Given the description of an element on the screen output the (x, y) to click on. 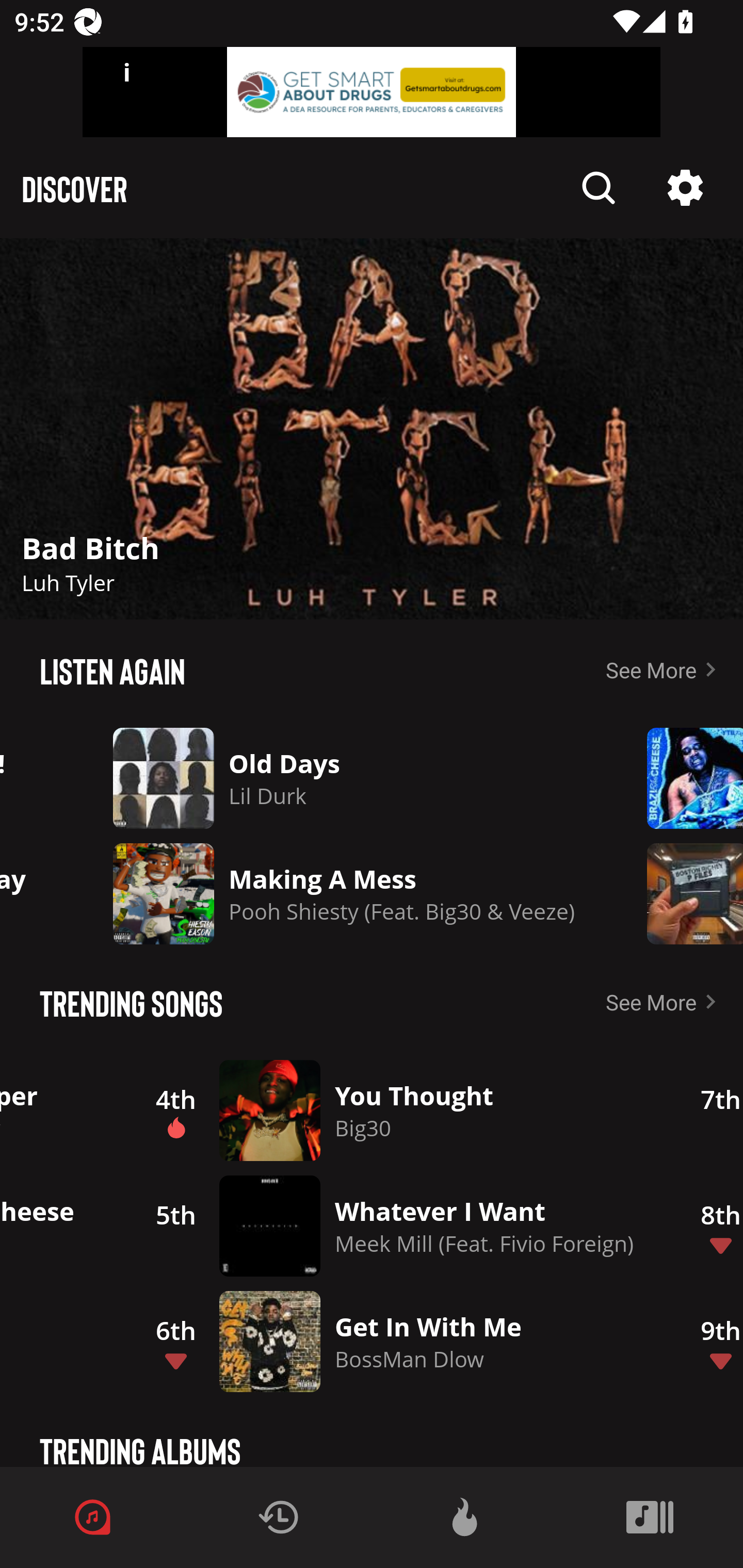
Description (598, 188)
Description (684, 188)
Description (371, 428)
See More (664, 669)
Description Old Days Lil Durk (343, 778)
Description (680, 778)
Description (680, 893)
See More (664, 1001)
4th Description Description You Thought Big30 (397, 1110)
7th (710, 1110)
8th Description (710, 1226)
9th Description (710, 1341)
